Given the description of an element on the screen output the (x, y) to click on. 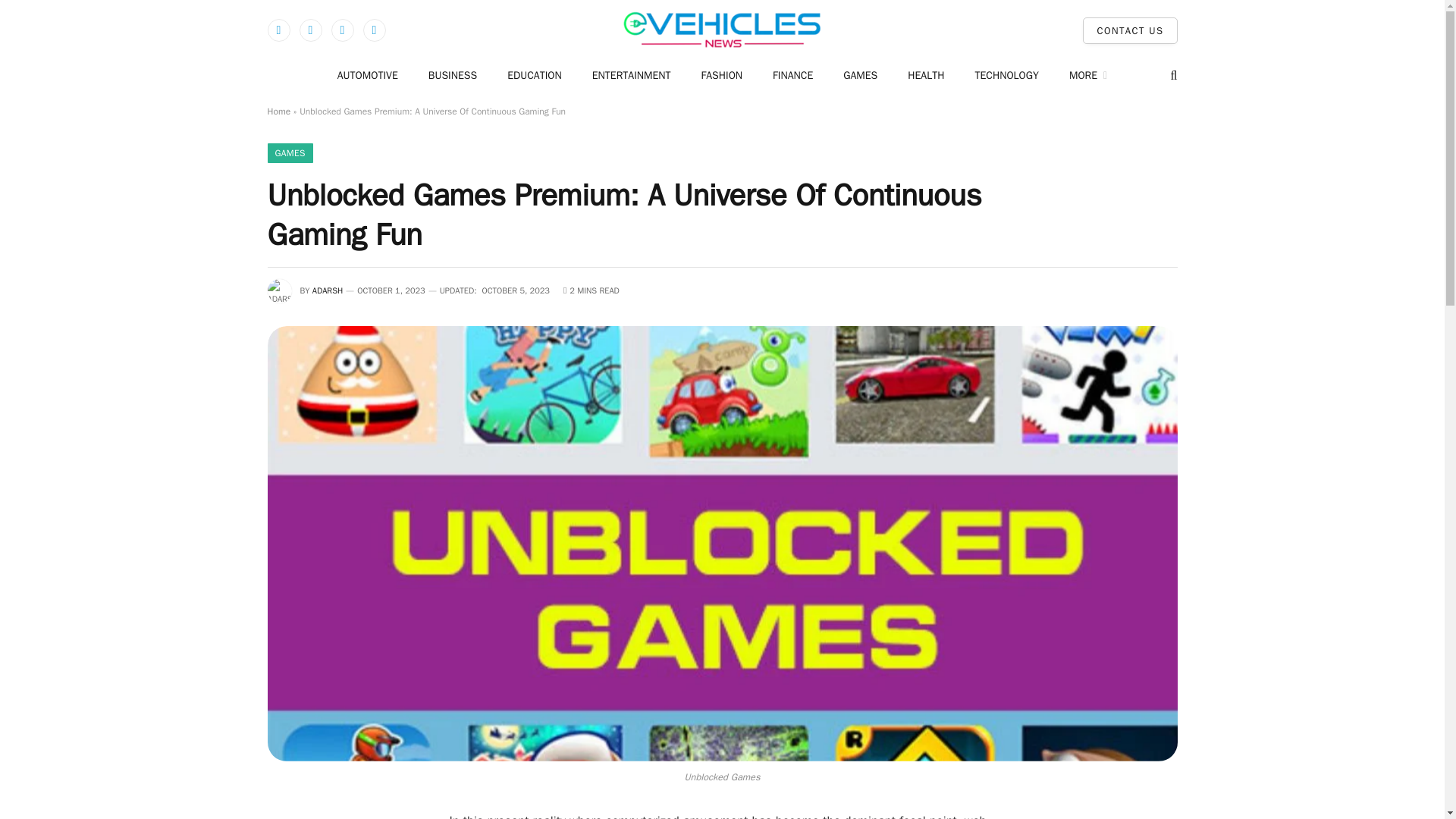
Home (277, 111)
evehiclesnews.com (722, 30)
ENTERTAINMENT (630, 75)
LinkedIn (373, 29)
FINANCE (792, 75)
ADARSH (327, 290)
Instagram (341, 29)
BUSINESS (452, 75)
CONTACT US (1129, 29)
